Given the description of an element on the screen output the (x, y) to click on. 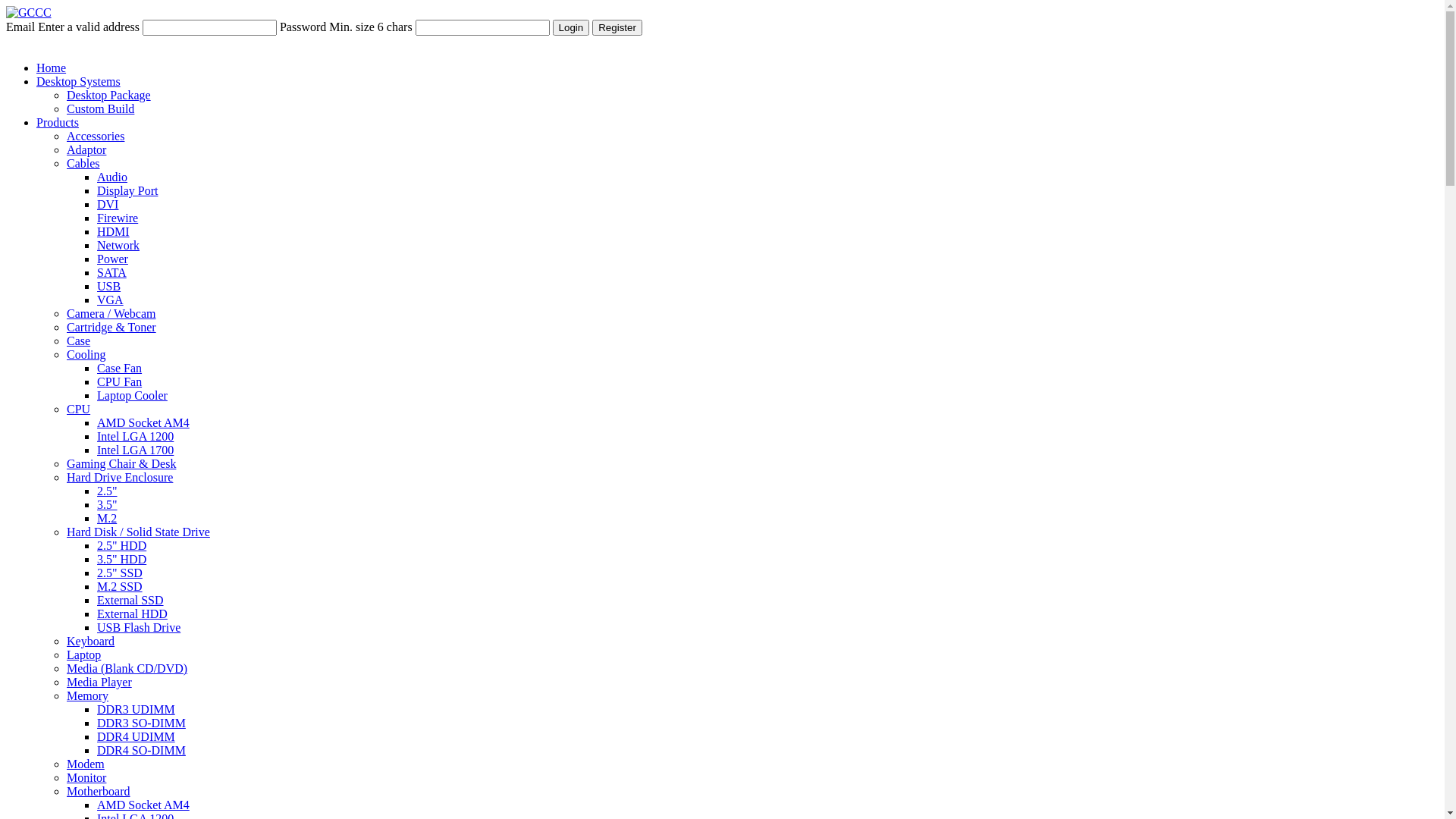
AMD Socket AM4 Element type: text (143, 422)
USB Flash Drive Element type: text (138, 627)
Desktop Systems Element type: text (78, 81)
M.2 SSD Element type: text (119, 586)
Register Element type: text (617, 27)
Motherboard Element type: text (98, 790)
External HDD Element type: text (132, 613)
Network Element type: text (118, 244)
3.5" Element type: text (107, 504)
2.5" Element type: text (107, 490)
Camera / Webcam Element type: text (110, 313)
Accessories Element type: text (95, 135)
Laptop Element type: text (83, 654)
Case Element type: text (78, 340)
Login Element type: text (570, 27)
HDMI Element type: text (113, 231)
2.5" HDD Element type: text (121, 545)
SATA Element type: text (111, 272)
Case Fan Element type: text (119, 367)
USB Element type: text (108, 285)
Intel LGA 1700 Element type: text (135, 449)
DVI Element type: text (107, 203)
Cartridge & Toner Element type: text (111, 326)
Intel LGA 1200 Element type: text (135, 435)
3.5" HDD Element type: text (121, 558)
Firewire Element type: text (117, 217)
Cooling Element type: text (86, 354)
External SSD Element type: text (130, 599)
Gaming Chair & Desk Element type: text (120, 463)
CPU Fan Element type: text (119, 381)
Memory Element type: text (87, 695)
Custom Build Element type: text (100, 108)
DDR4 SO-DIMM Element type: text (141, 749)
2.5" SSD Element type: text (119, 572)
Keyboard Element type: text (90, 640)
CPU Element type: text (78, 408)
AMD Socket AM4 Element type: text (143, 804)
DDR4 UDIMM Element type: text (136, 736)
Hard Disk / Solid State Drive Element type: text (138, 531)
Media Player Element type: text (98, 681)
M.2 Element type: text (106, 517)
Products Element type: text (57, 122)
Modem Element type: text (85, 763)
Home Element type: text (50, 67)
Display Port Element type: text (127, 190)
DDR3 SO-DIMM Element type: text (141, 722)
Laptop Cooler Element type: text (132, 395)
Media (Blank CD/DVD) Element type: text (126, 668)
VGA Element type: text (110, 299)
Power Element type: text (112, 258)
Audio Element type: text (112, 176)
Hard Drive Enclosure Element type: text (119, 476)
Monitor Element type: text (86, 777)
Desktop Package Element type: text (108, 94)
DDR3 UDIMM Element type: text (136, 708)
Adaptor Element type: text (86, 149)
Cables Element type: text (83, 162)
